Given the description of an element on the screen output the (x, y) to click on. 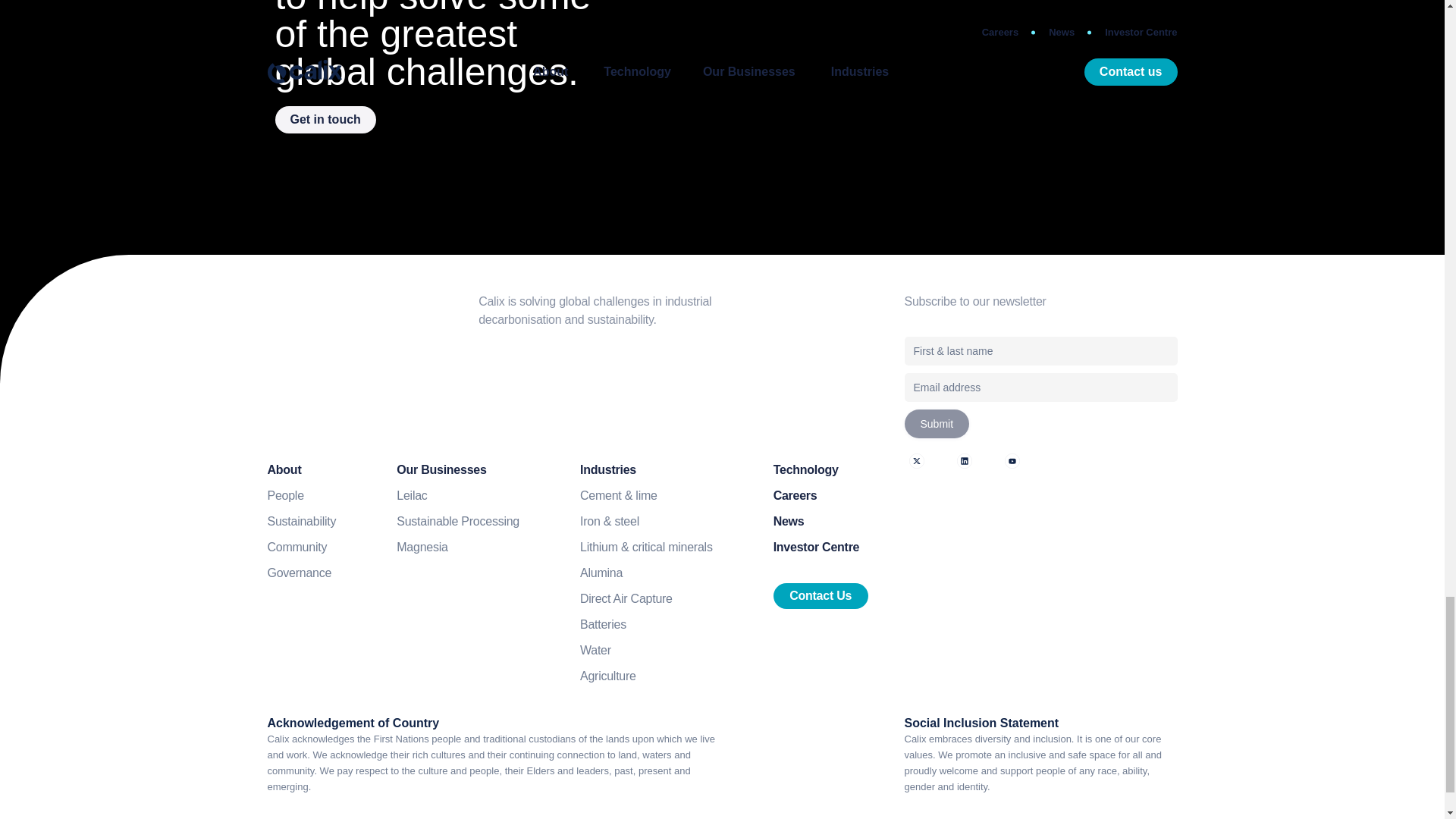
Submit (936, 423)
